Given the description of an element on the screen output the (x, y) to click on. 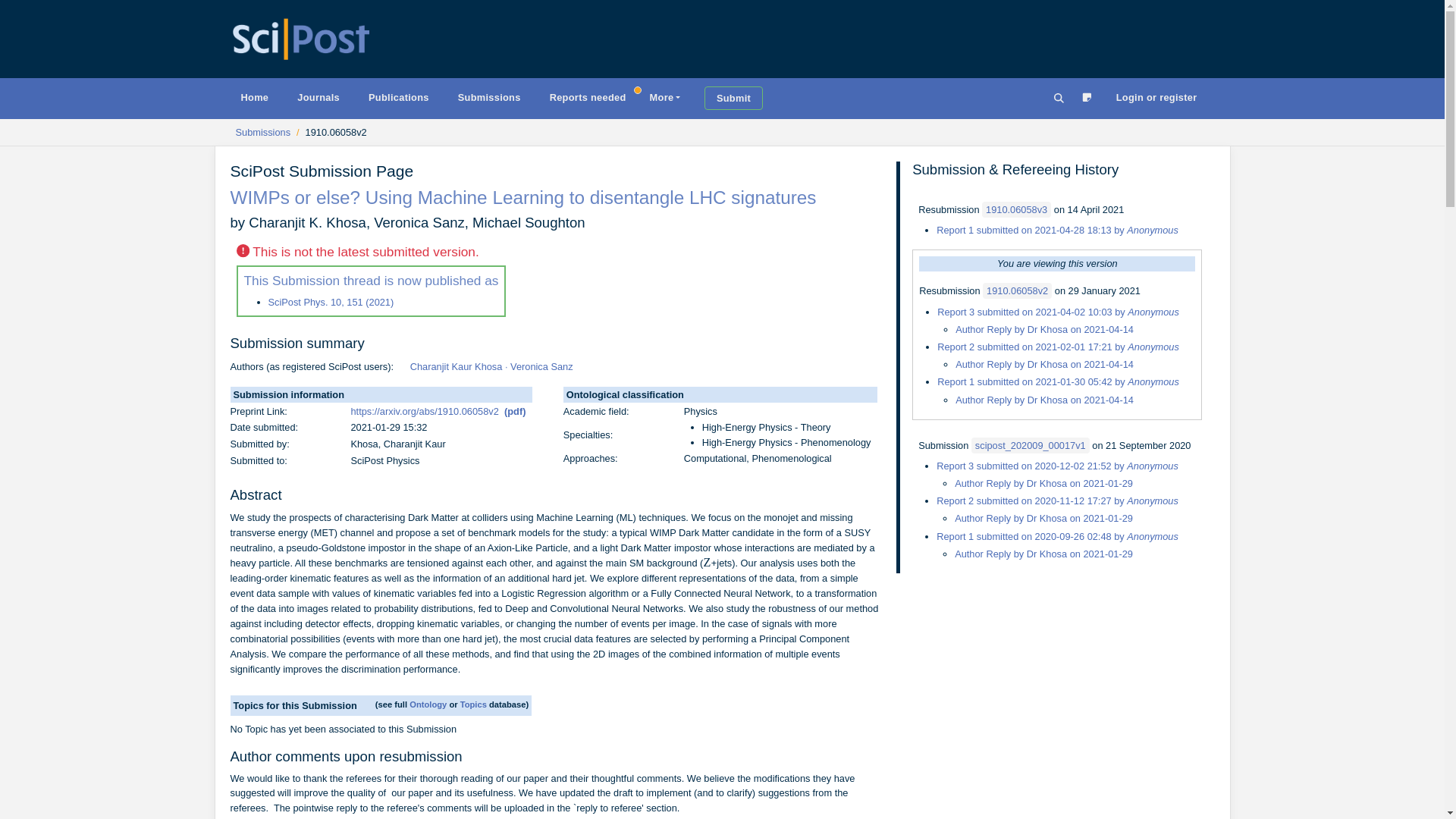
Author Reply by Dr Khosa on 2021-04-14 (1044, 364)
Author Reply by Dr Khosa on 2021-01-29 (1043, 553)
Report 1 submitted on 2021-01-30 05:42 by Anonymous (1058, 381)
Submissions (261, 132)
Topics (473, 703)
Veronica Sanz (542, 366)
More (664, 97)
Charanjit Kaur Khosa (456, 366)
Login or register (1156, 97)
Report 1 submitted on 2020-09-26 02:48 by Anonymous (1056, 536)
